Given the description of an element on the screen output the (x, y) to click on. 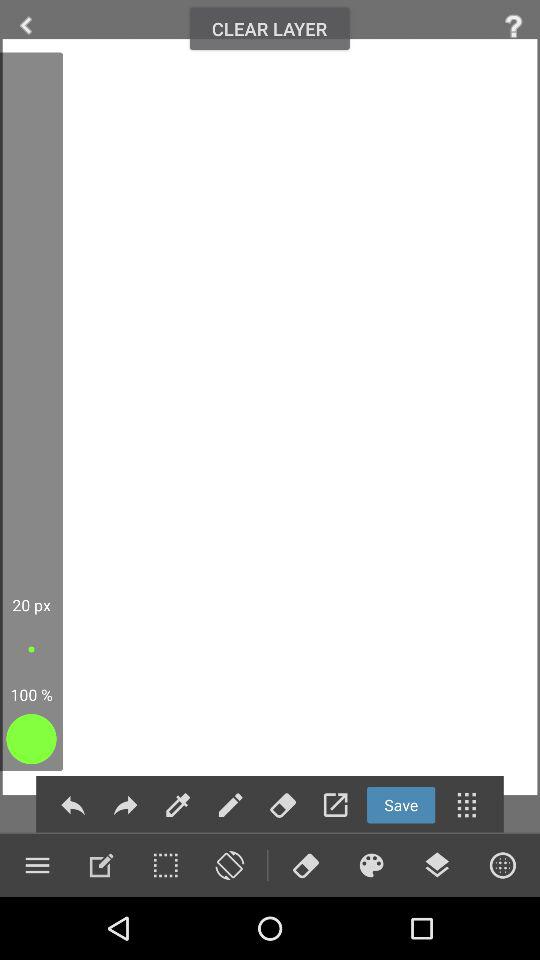
click dotted square to draw (165, 865)
